Given the description of an element on the screen output the (x, y) to click on. 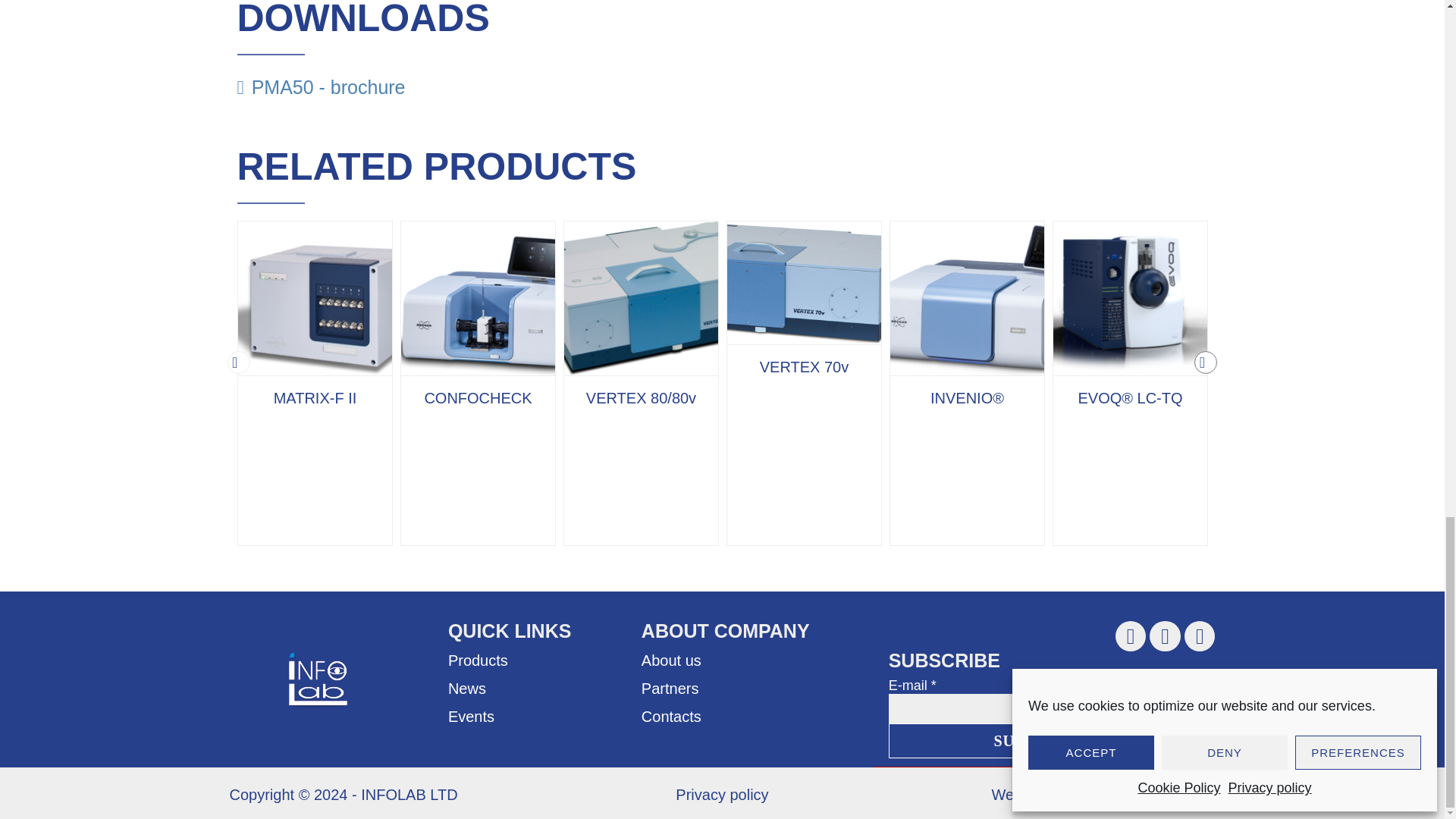
Subscribe (1040, 740)
